Given the description of an element on the screen output the (x, y) to click on. 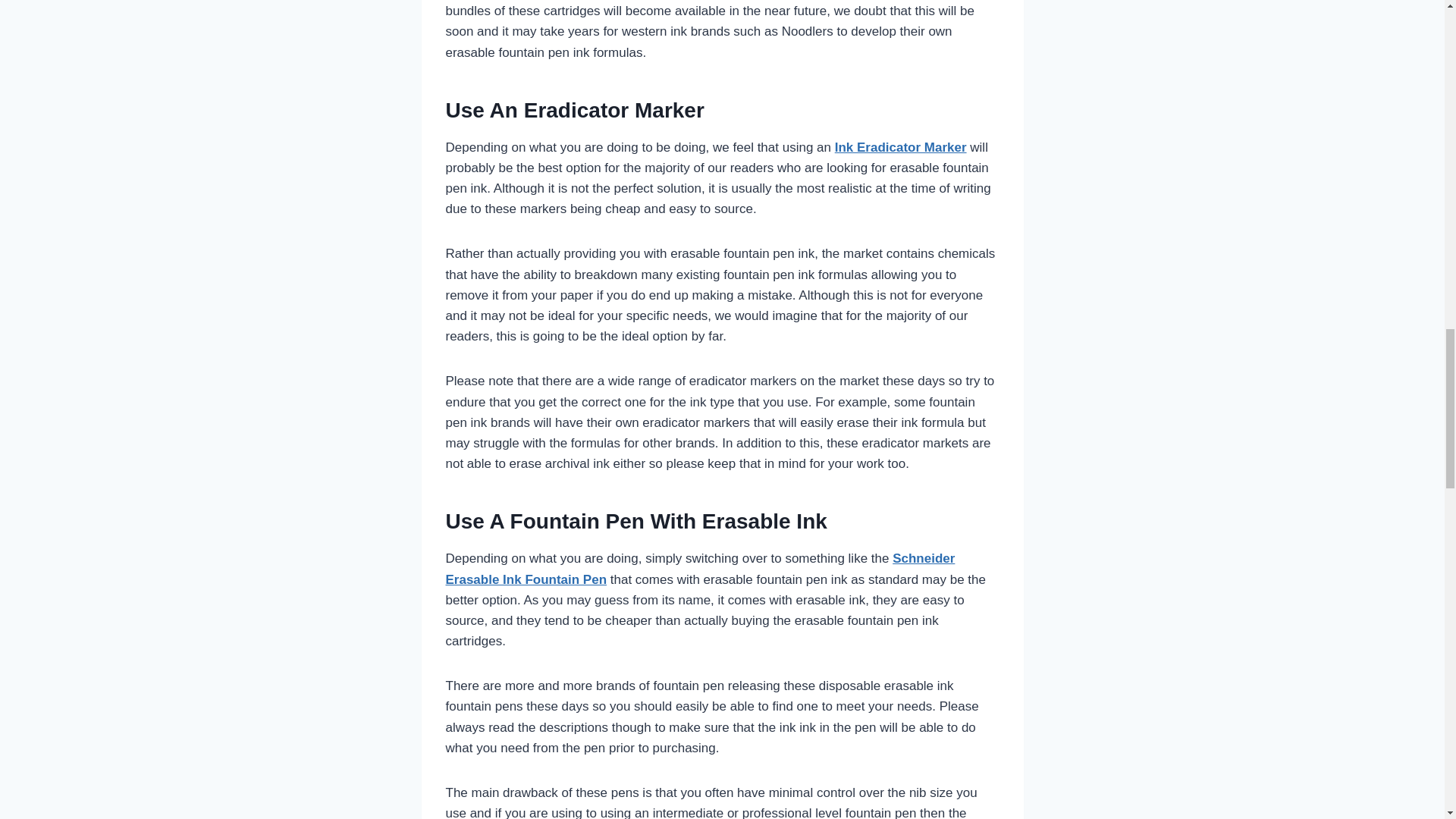
Ink Eradicator Marker (900, 147)
Schneider Erasable Ink Fountain Pen (700, 568)
Ink Eradicator Marker (900, 147)
Schneider Erasable Ink Fountain Pen (700, 568)
